Given the description of an element on the screen output the (x, y) to click on. 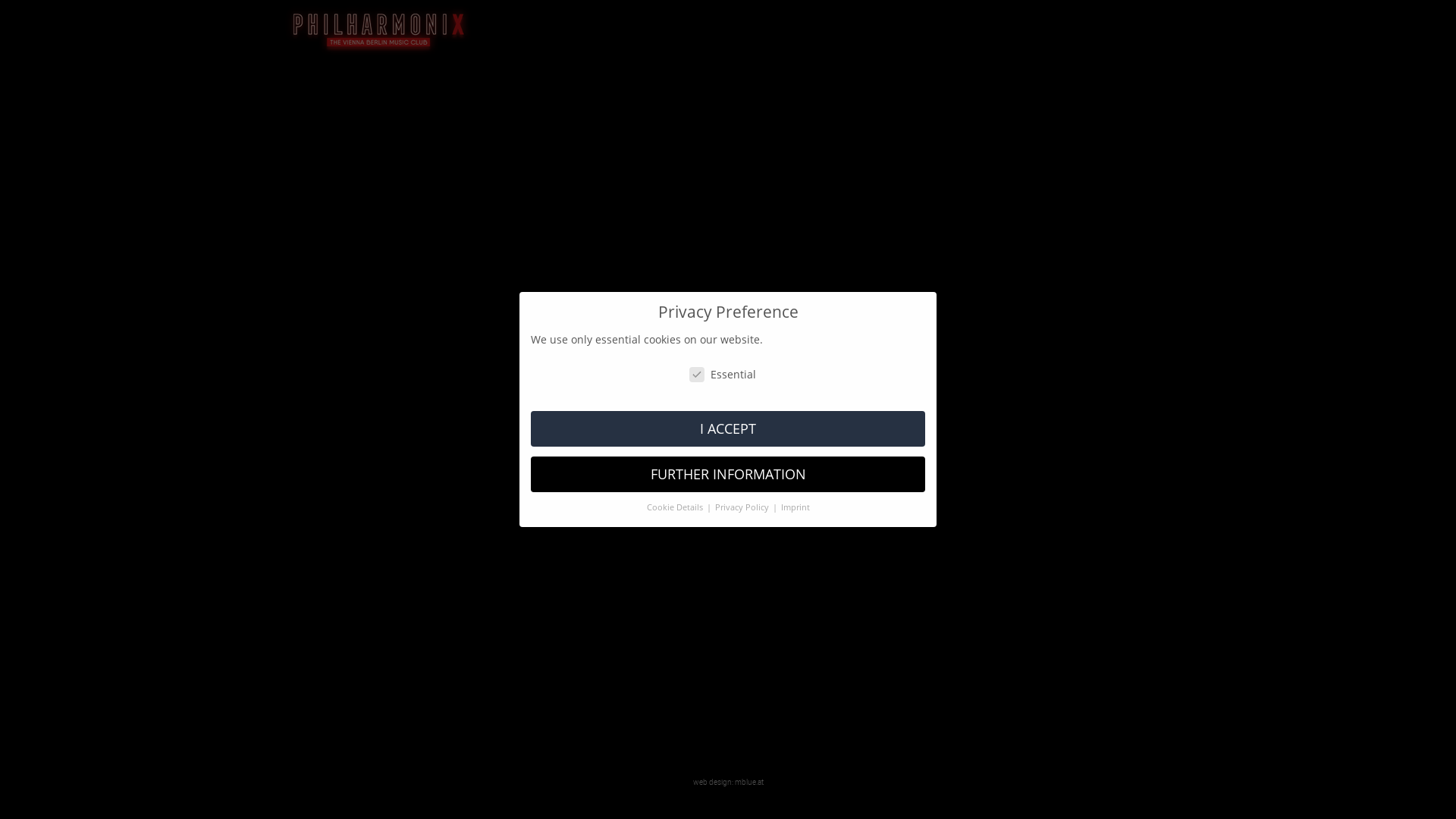
Privacy Policy Element type: text (742, 507)
mblue.at Element type: text (748, 781)
I ACCEPT Element type: text (727, 428)
Imprint Element type: text (795, 507)
Cookie Details Element type: text (675, 507)
FURTHER INFORMATION Element type: text (727, 474)
